Given the description of an element on the screen output the (x, y) to click on. 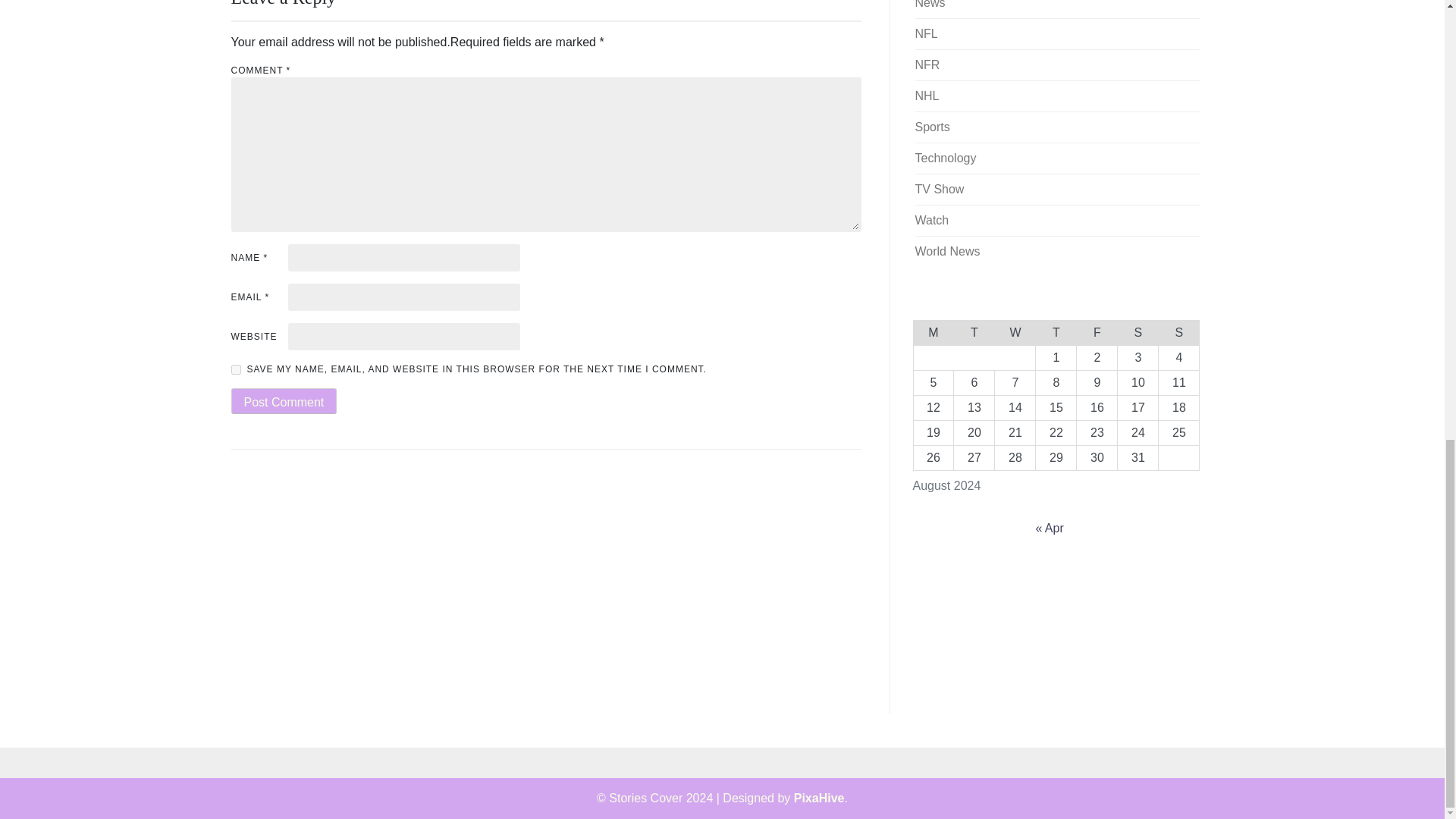
Post Comment (283, 401)
Friday (1097, 332)
Tuesday (973, 332)
yes (235, 369)
Wednesday (1014, 332)
Saturday (1138, 332)
Thursday (1056, 332)
Monday (932, 332)
Sunday (1178, 332)
